Given the description of an element on the screen output the (x, y) to click on. 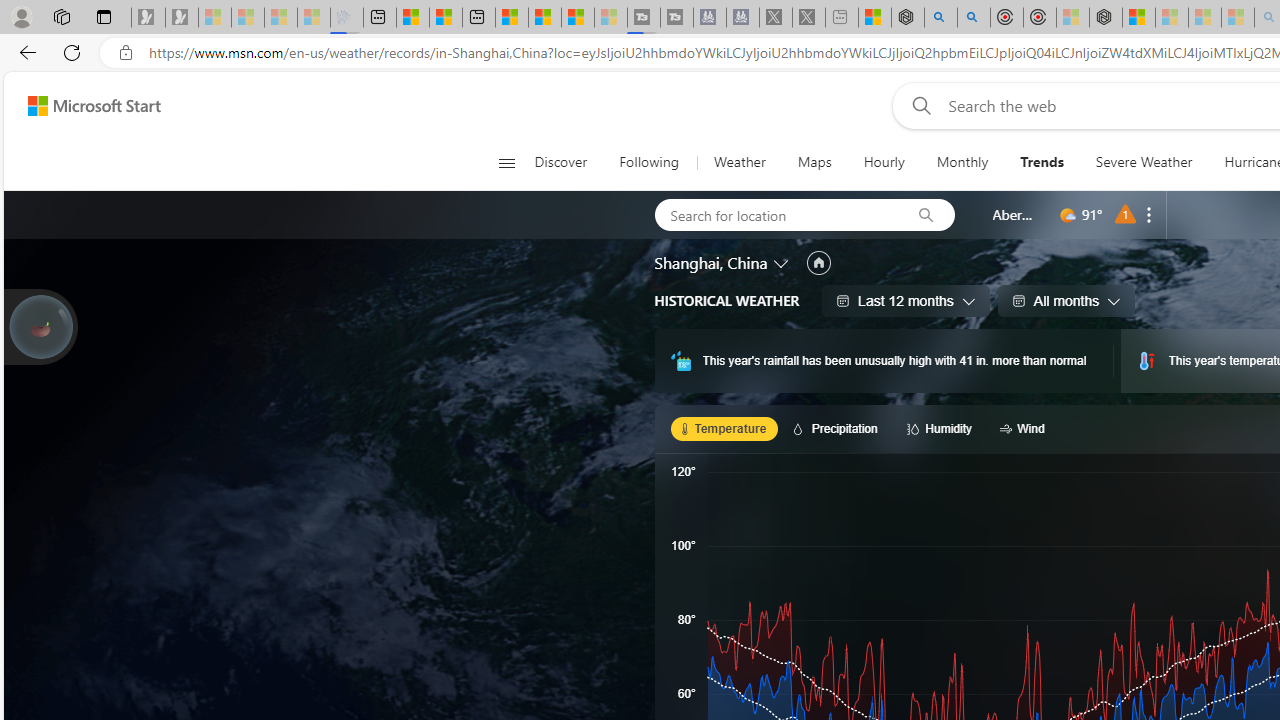
Newsletter Sign Up - Sleeping (182, 17)
Open navigation menu (506, 162)
Web search (917, 105)
Maps (814, 162)
Back (24, 52)
New tab - Sleeping (841, 17)
Nordace - Nordace Siena Is Not An Ordinary Backpack (1106, 17)
Streaming Coverage | T3 - Sleeping (644, 17)
Microsoft Start (94, 105)
Wildlife - MSN (874, 17)
